Given the description of an element on the screen output the (x, y) to click on. 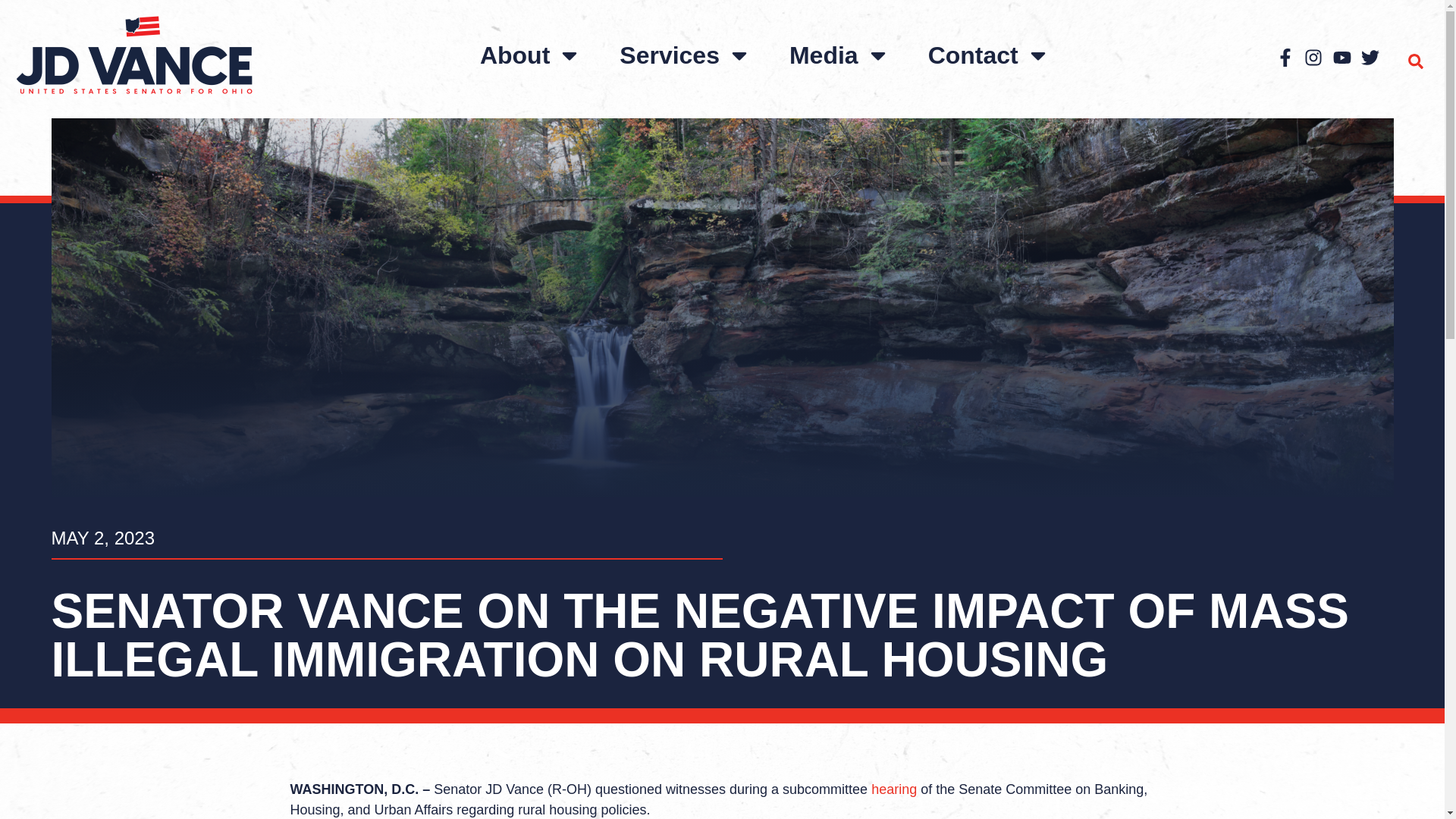
About (530, 54)
Contact (988, 54)
MAY 2, 2023 (102, 538)
Media (839, 54)
Logo Color (133, 55)
Services (685, 54)
hearing (893, 789)
